Given the description of an element on the screen output the (x, y) to click on. 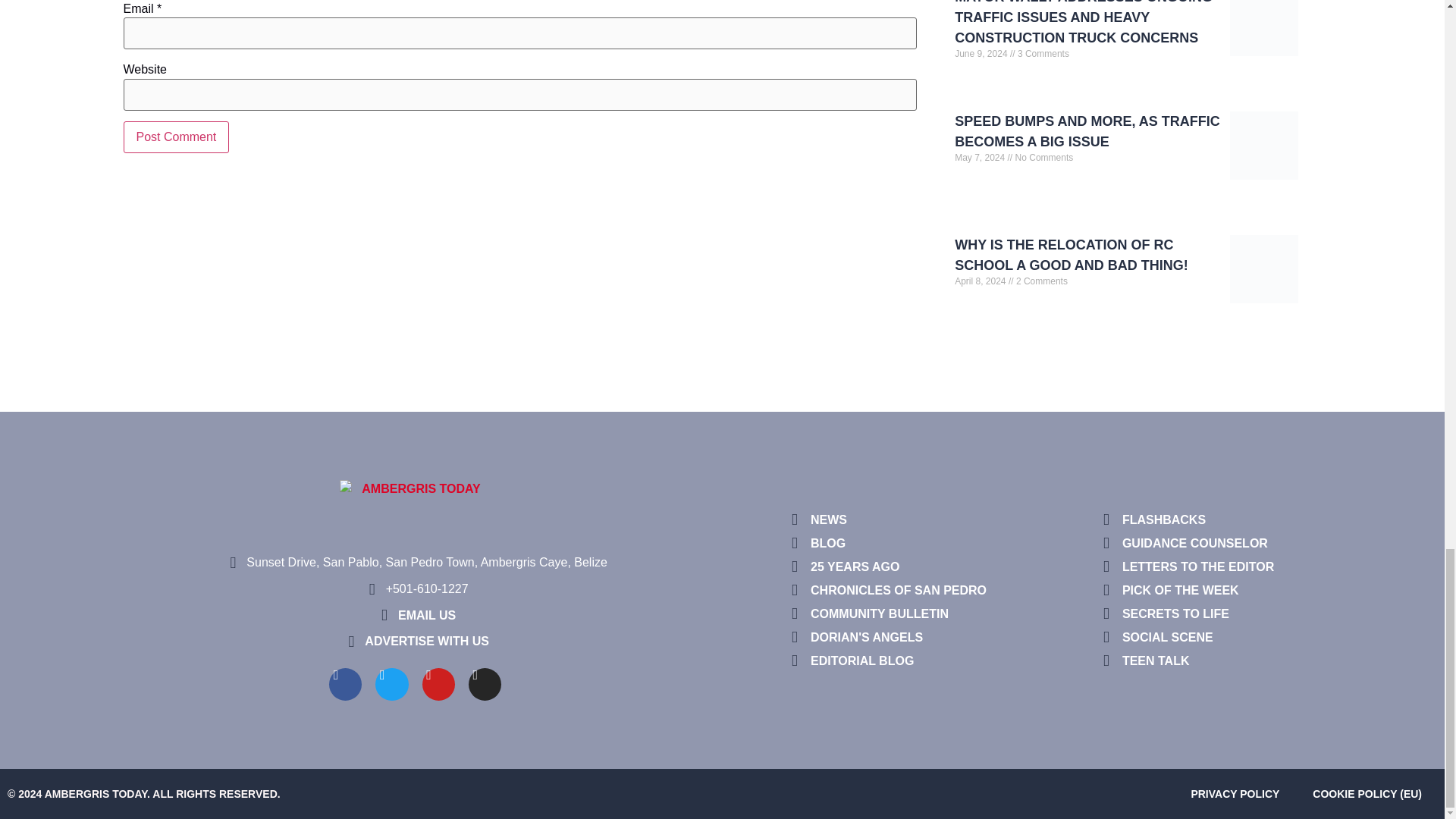
Post Comment (175, 137)
Post Comment (175, 137)
